Given the description of an element on the screen output the (x, y) to click on. 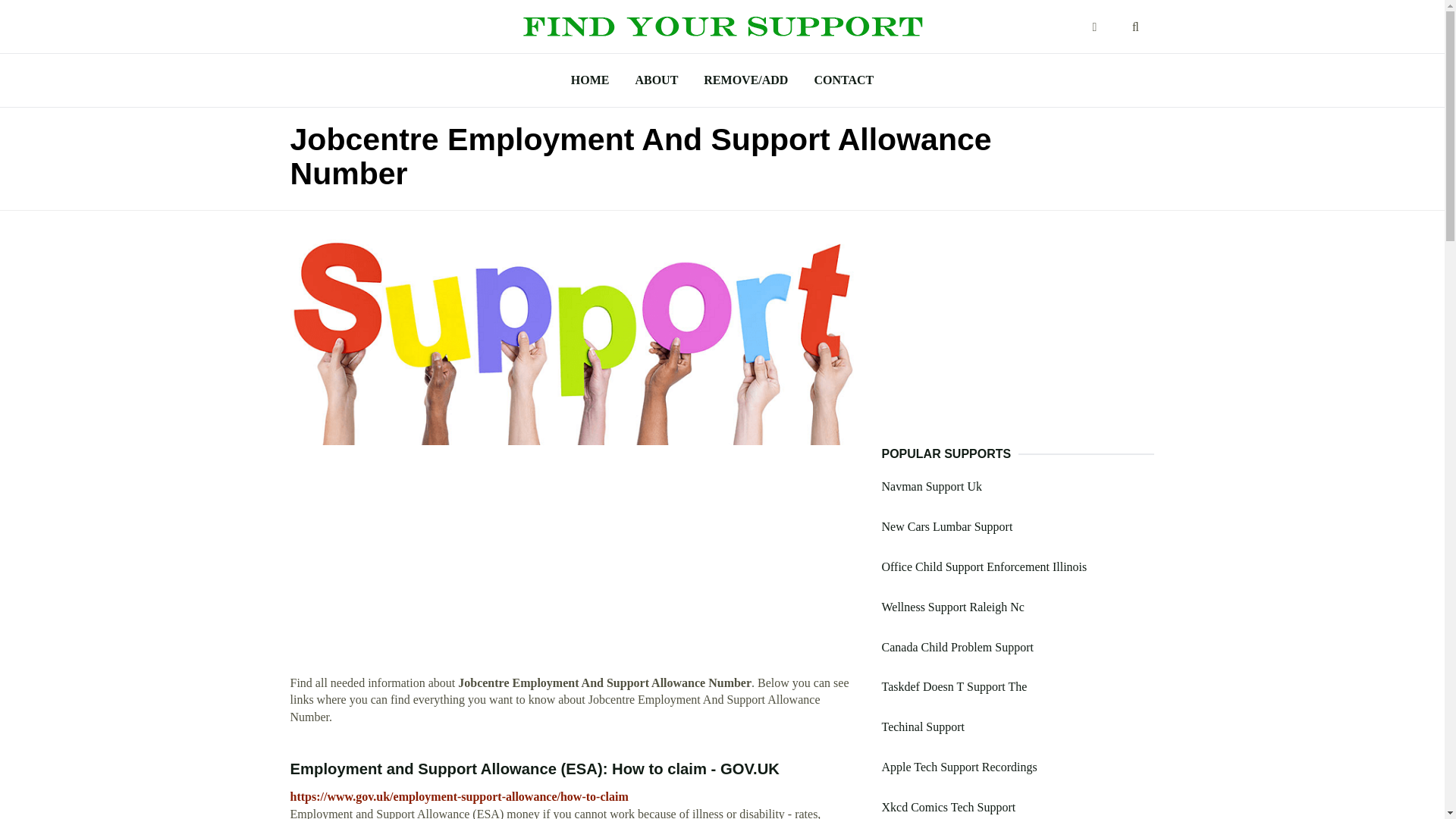
Navman Support Uk (930, 486)
Advertisement (574, 568)
New Cars Lumbar Support (945, 526)
ABOUT (655, 80)
Wellness Support Raleigh Nc (951, 606)
Advertisement (1017, 339)
CONTACT (843, 80)
HOME (590, 80)
Taskdef Doesn T Support The (953, 686)
Office Child Support Enforcement Illinois (983, 566)
